Given the description of an element on the screen output the (x, y) to click on. 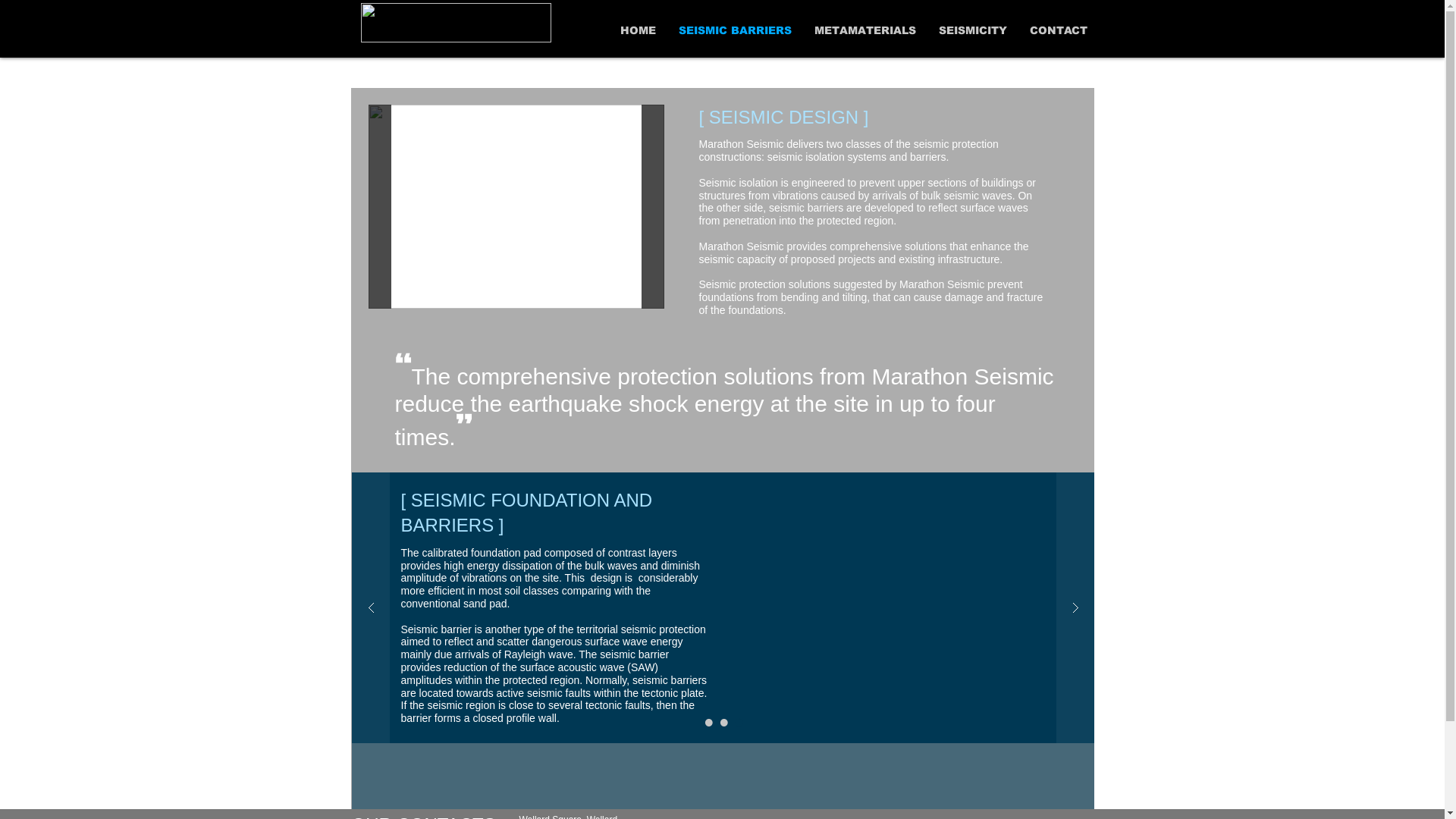
HOME Element type: text (637, 30)
METAMATERIALS Element type: text (864, 30)
CONTACT Element type: text (1057, 30)
SEISMICITY Element type: text (971, 30)
SEISMIC BARRIERS Element type: text (735, 30)
